Given the description of an element on the screen output the (x, y) to click on. 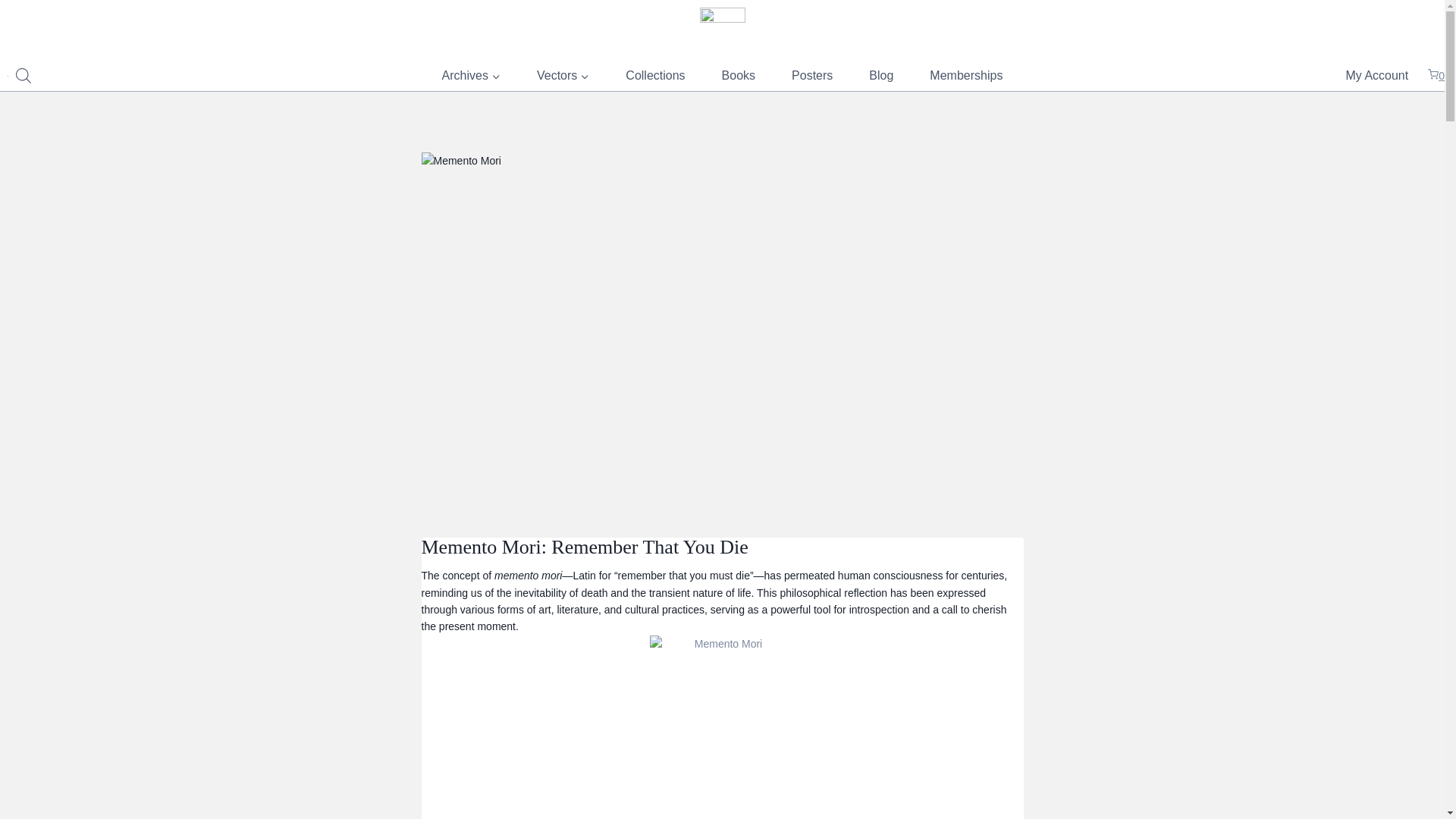
Books (738, 75)
Blog (880, 75)
Memberships (965, 75)
Collections (655, 75)
Archives (470, 75)
My Account (1377, 75)
Vectors (562, 75)
Posters (811, 75)
